Given the description of an element on the screen output the (x, y) to click on. 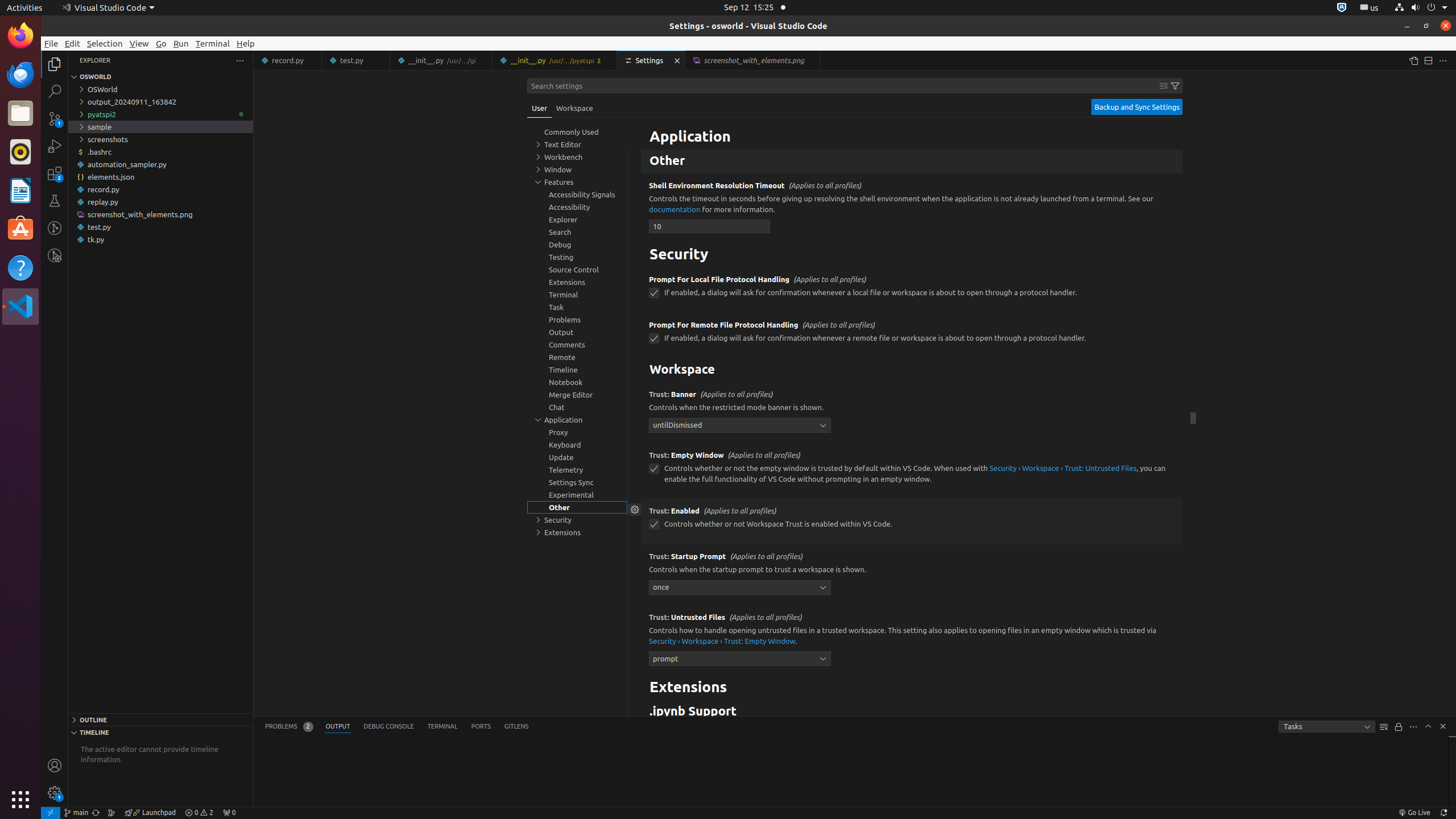
Open Settings (JSON) Element type: push-button (1413, 60)
Close (Ctrl+W) Element type: push-button (812, 60)
Source Control (Ctrl+Shift+G G) - 1 pending changes Source Control (Ctrl+Shift+G G) - 1 pending changes Element type: page-tab (54, 118)
Terminal Element type: push-button (212, 43)
Text Editor, group Element type: tree-item (577, 144)
